Given the description of an element on the screen output the (x, y) to click on. 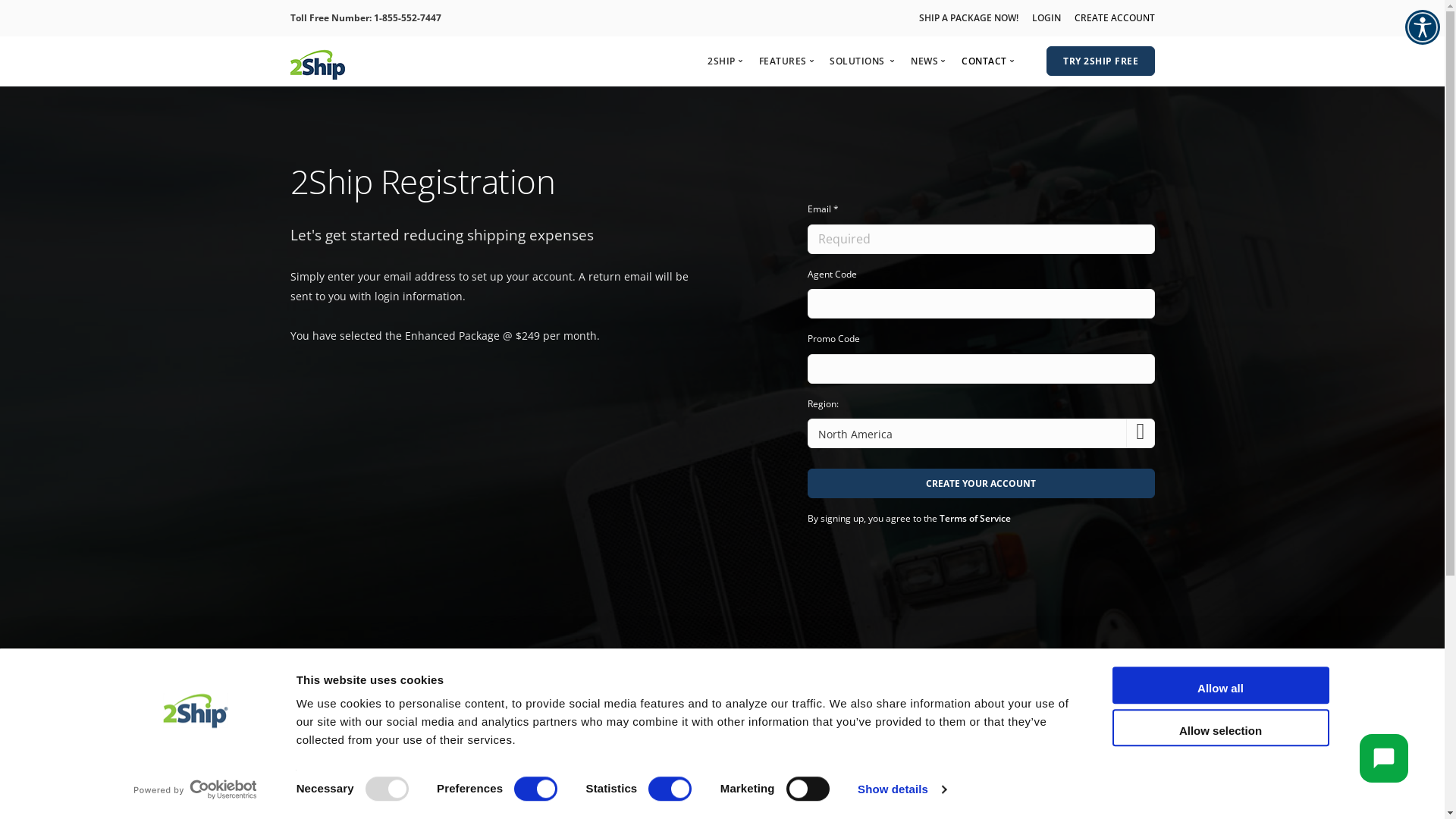
Show details Element type: text (901, 789)
      TRY 2SHIP FREE       Element type: text (1100, 60)
CREATE YOUR ACCOUNT Element type: text (980, 483)
UserWay Accessibility Menu Element type: hover (1383, 757)
Terms of Service Element type: text (974, 517)
CREATE ACCOUNT Element type: text (1113, 17)
CONTACT Element type: text (984, 60)
SHIP A PACKAGE NOW! Element type: text (968, 17)
Allow selection Element type: text (1219, 727)
Allow all Element type: text (1219, 684)
LOGIN Element type: text (1046, 17)
      TRY 2SHIP FREE       Element type: text (1100, 60)
